Given the description of an element on the screen output the (x, y) to click on. 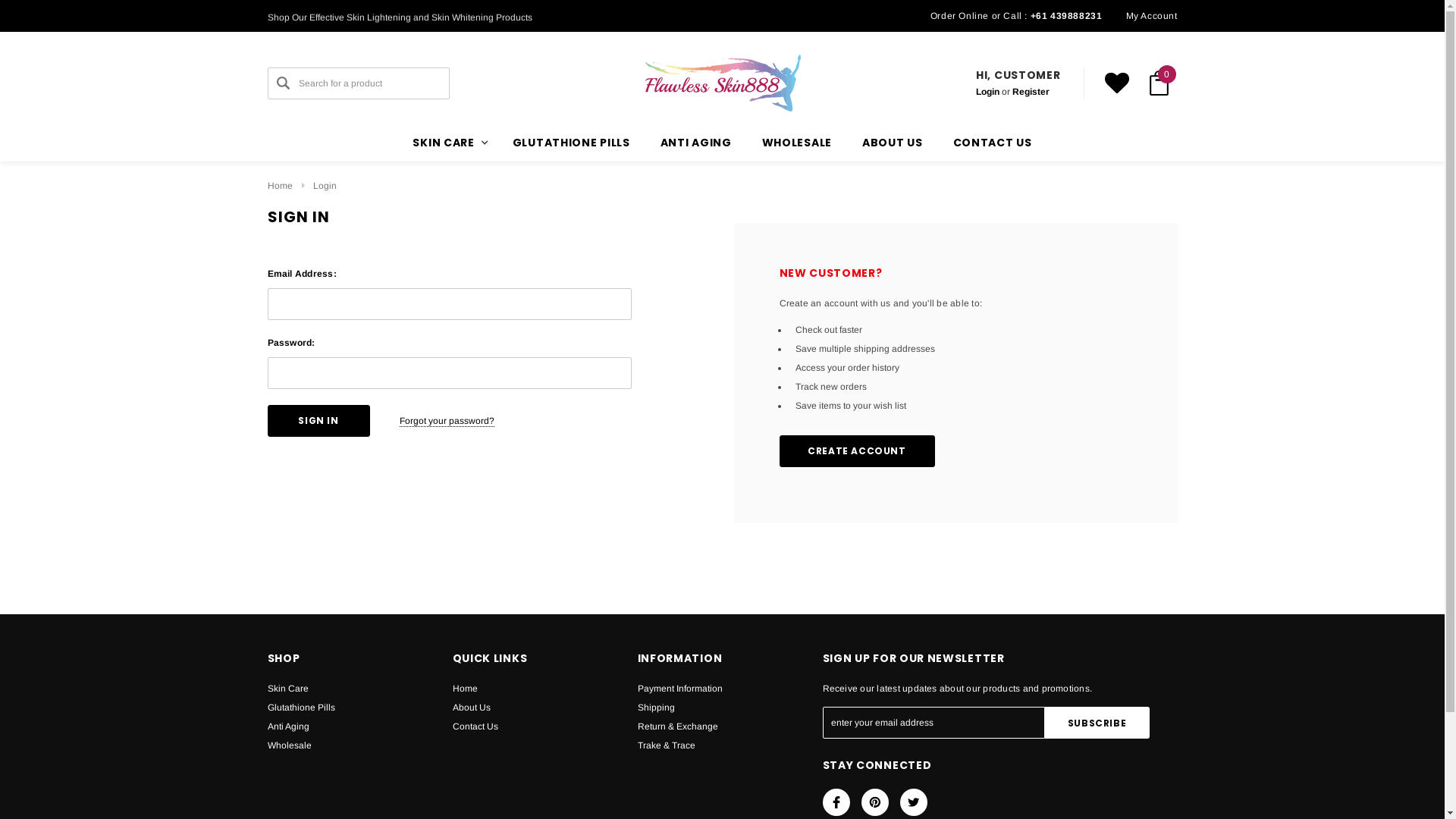
Shipping Element type: text (655, 707)
Home Element type: text (278, 185)
Subscribe Element type: text (1096, 722)
Anti Aging Element type: text (287, 726)
Return & Exchange Element type: text (677, 726)
CONTACT US Element type: text (992, 142)
Sign in Element type: text (317, 420)
GLUTATHIONE PILLS Element type: text (571, 142)
SKIN CARE Element type: text (446, 142)
Trake & Trace Element type: text (665, 745)
Login Element type: text (323, 185)
Skin Care Element type: text (286, 688)
About Us Element type: text (470, 707)
Wholesale Element type: text (288, 745)
Register Element type: text (1030, 91)
Glutathione Pills Element type: text (300, 707)
Payment Information Element type: text (679, 688)
Login Element type: text (1066, 243)
Flawless Skin888 Element type: hover (722, 82)
Wish lists Element type: hover (1116, 83)
Login Element type: text (987, 91)
Contact Us Element type: text (474, 726)
+61 439888231 Element type: text (1066, 15)
ANTI AGING Element type: text (695, 142)
WHOLESALE Element type: text (796, 142)
Forgot your password? Element type: text (445, 420)
Home Element type: text (463, 688)
CREATE ACCOUNT Element type: text (857, 451)
CREATE ACCOUNT Element type: text (857, 450)
My Account Element type: text (1150, 15)
0 Element type: text (1158, 82)
ABOUT US Element type: text (892, 142)
